Given the description of an element on the screen output the (x, y) to click on. 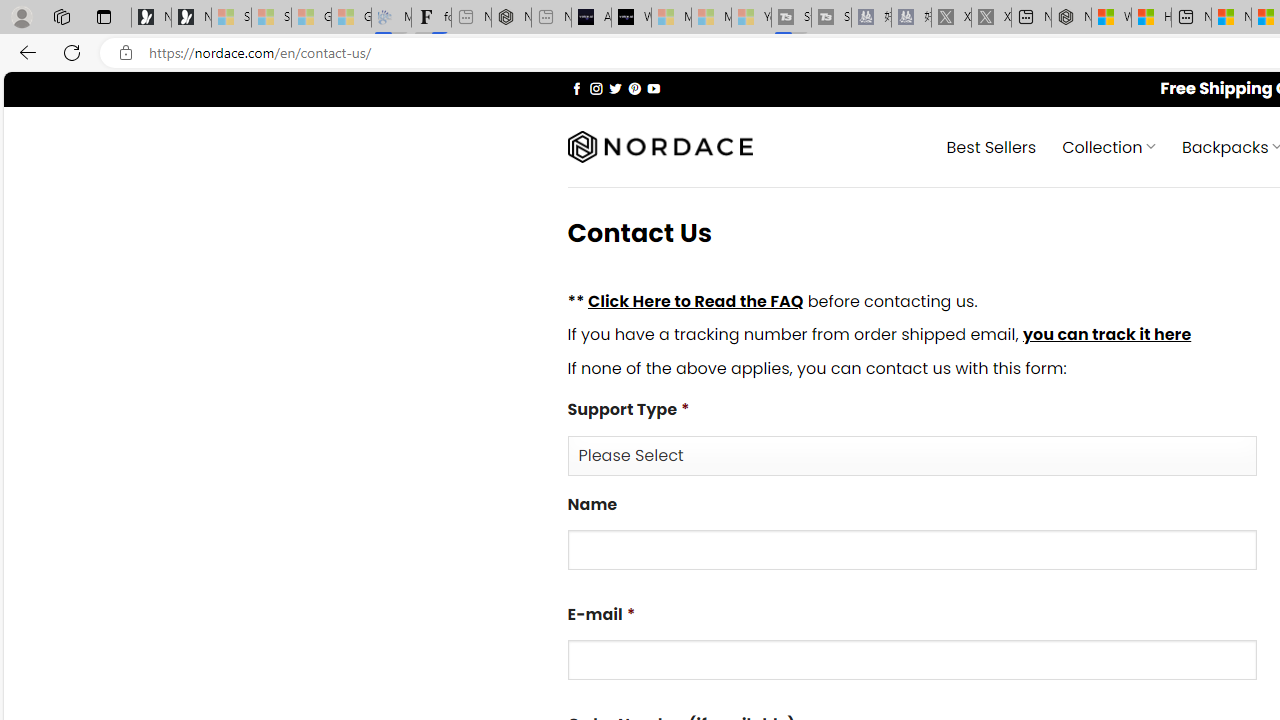
E-mail* (911, 660)
Click Here to Read the FAQ (695, 300)
Microsoft Start Sports - Sleeping (671, 17)
